Given the description of an element on the screen output the (x, y) to click on. 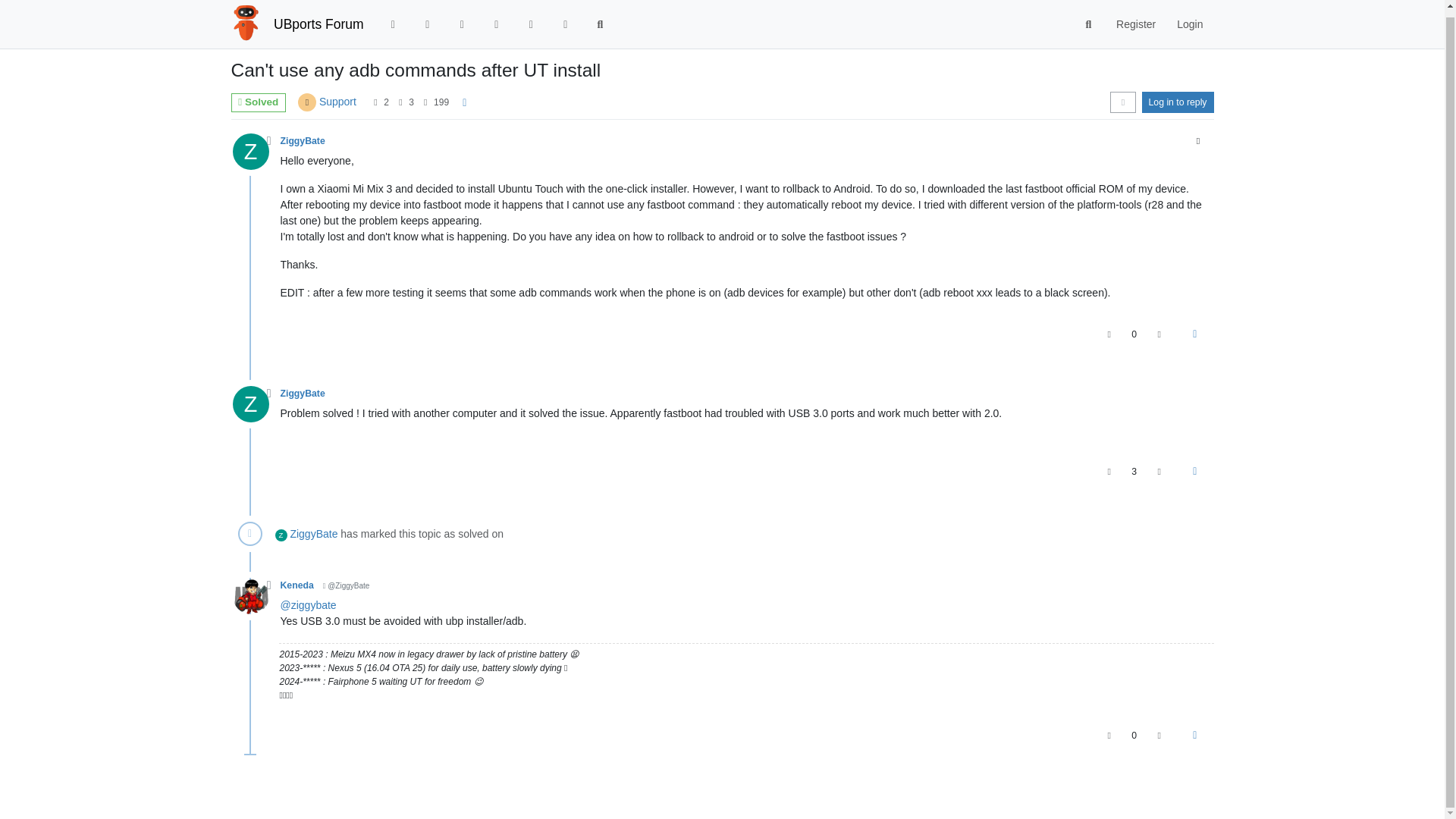
UBports Forum (318, 18)
Views (425, 102)
Users (530, 18)
Groups (565, 18)
Support (337, 101)
Sort by (1122, 102)
ZiggyBate (249, 151)
Search (1088, 18)
Tags (462, 18)
Search (600, 18)
Z (255, 155)
Login (1189, 18)
199 (440, 102)
Log in to reply (1177, 102)
Register (1135, 18)
